Given the description of an element on the screen output the (x, y) to click on. 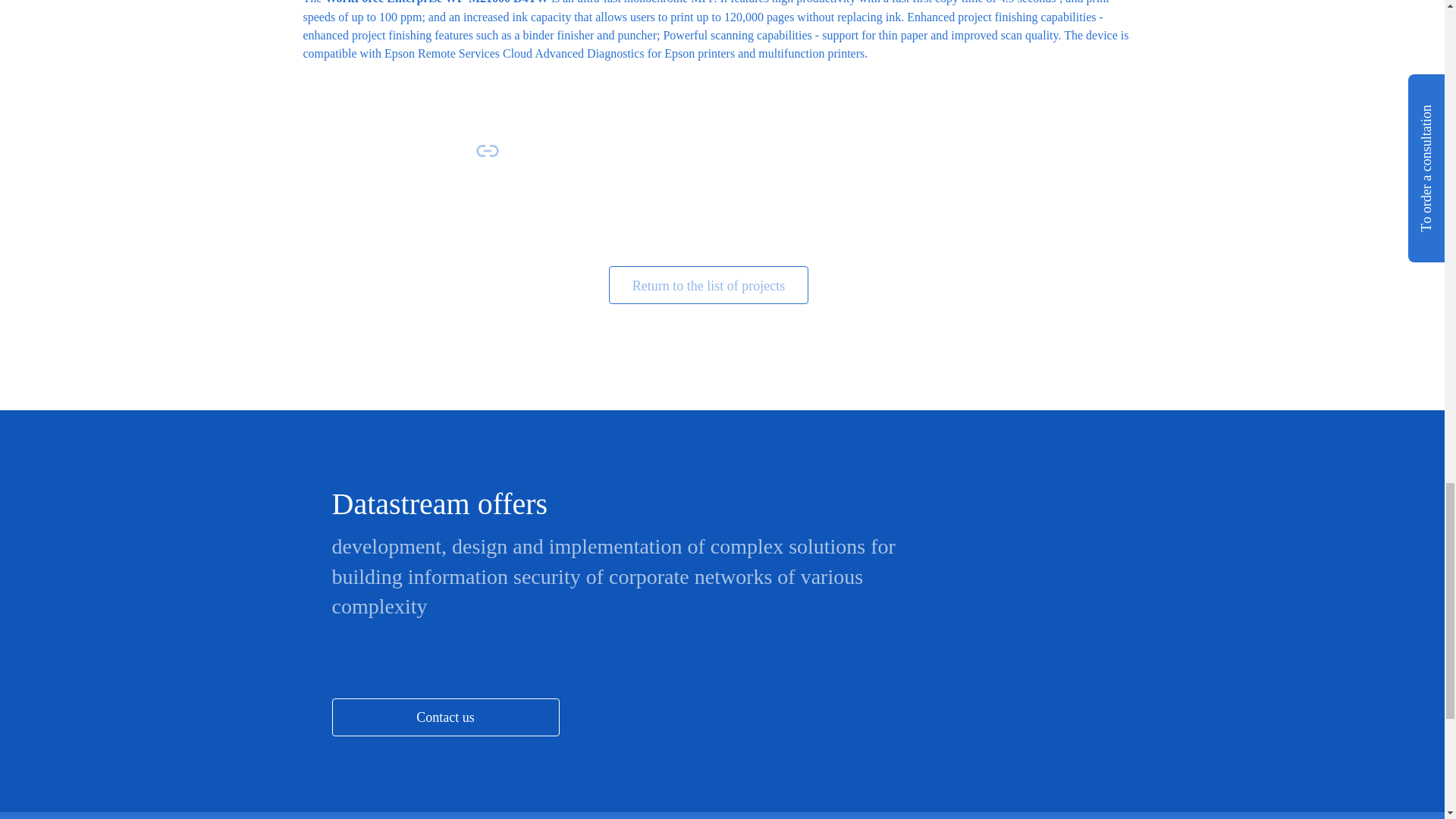
WorkForce Enterprise WF-M21000 D4TW (436, 2)
Return to the list of projects (708, 284)
